Given the description of an element on the screen output the (x, y) to click on. 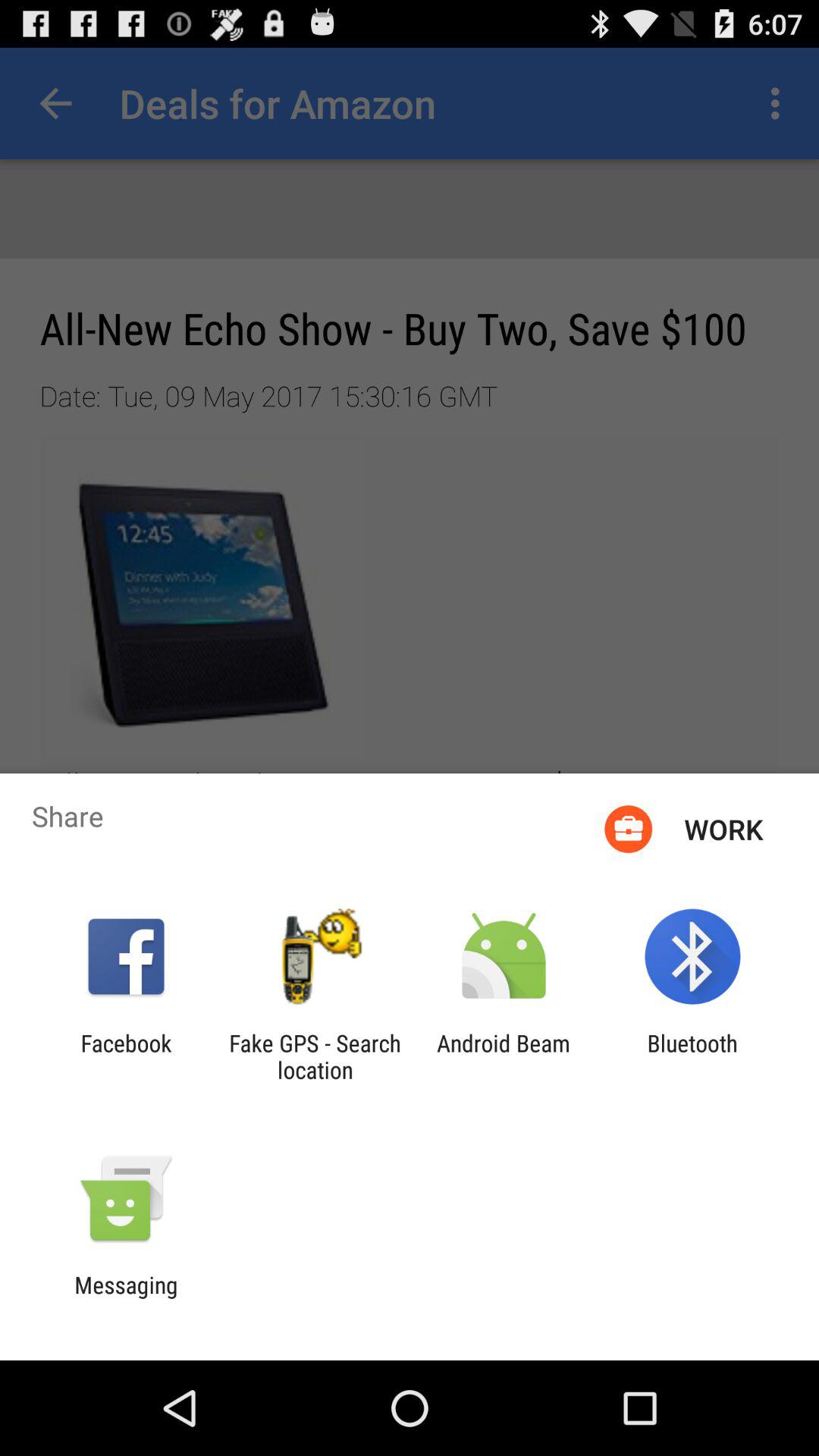
select the app to the left of fake gps search item (125, 1056)
